Given the description of an element on the screen output the (x, y) to click on. 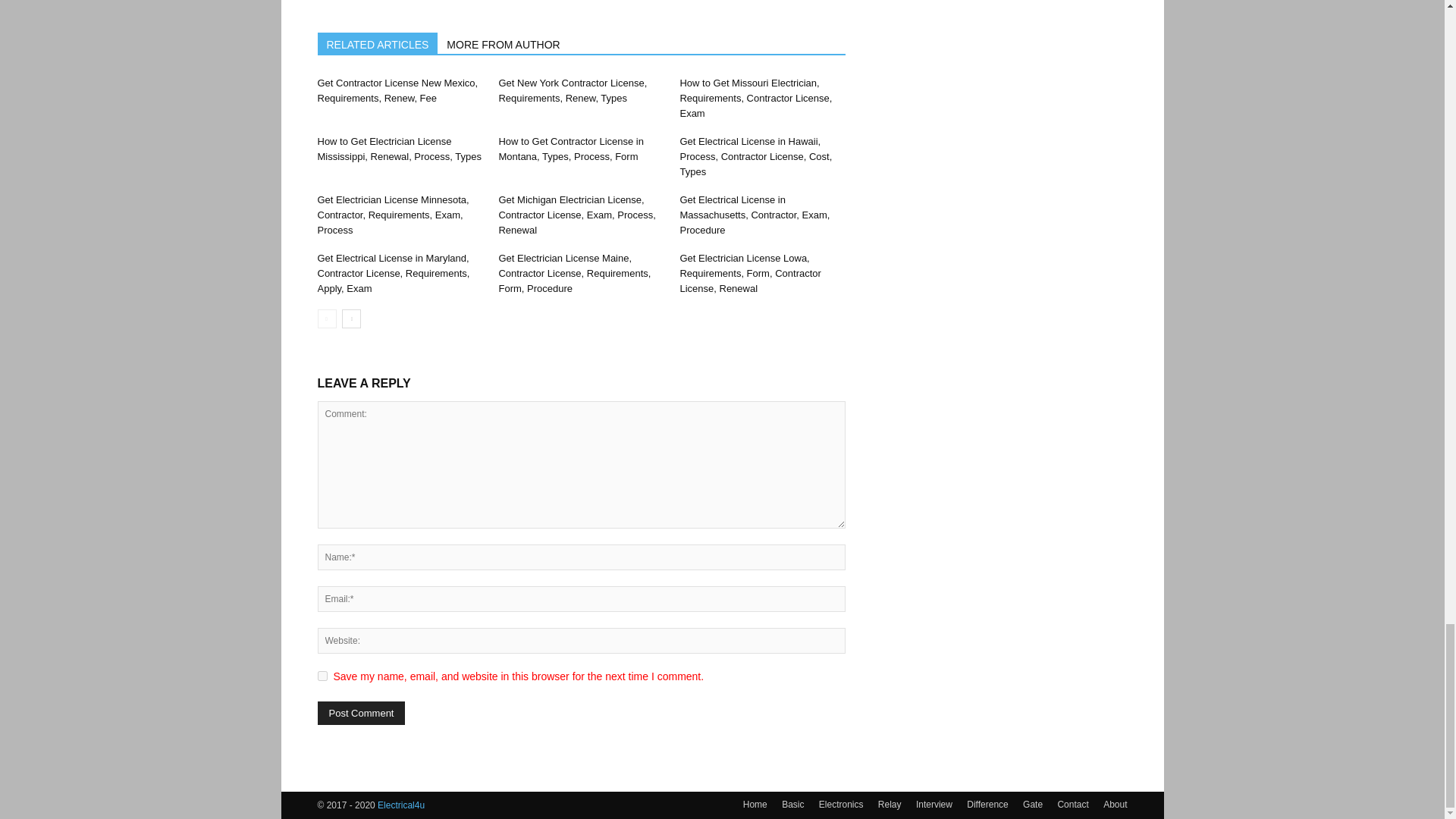
Post Comment (360, 712)
Get Contractor License New Mexico, Requirements, Renew, Fee (397, 90)
yes (321, 675)
Get New York Contractor License, Requirements, Renew, Types (571, 90)
